Given the description of an element on the screen output the (x, y) to click on. 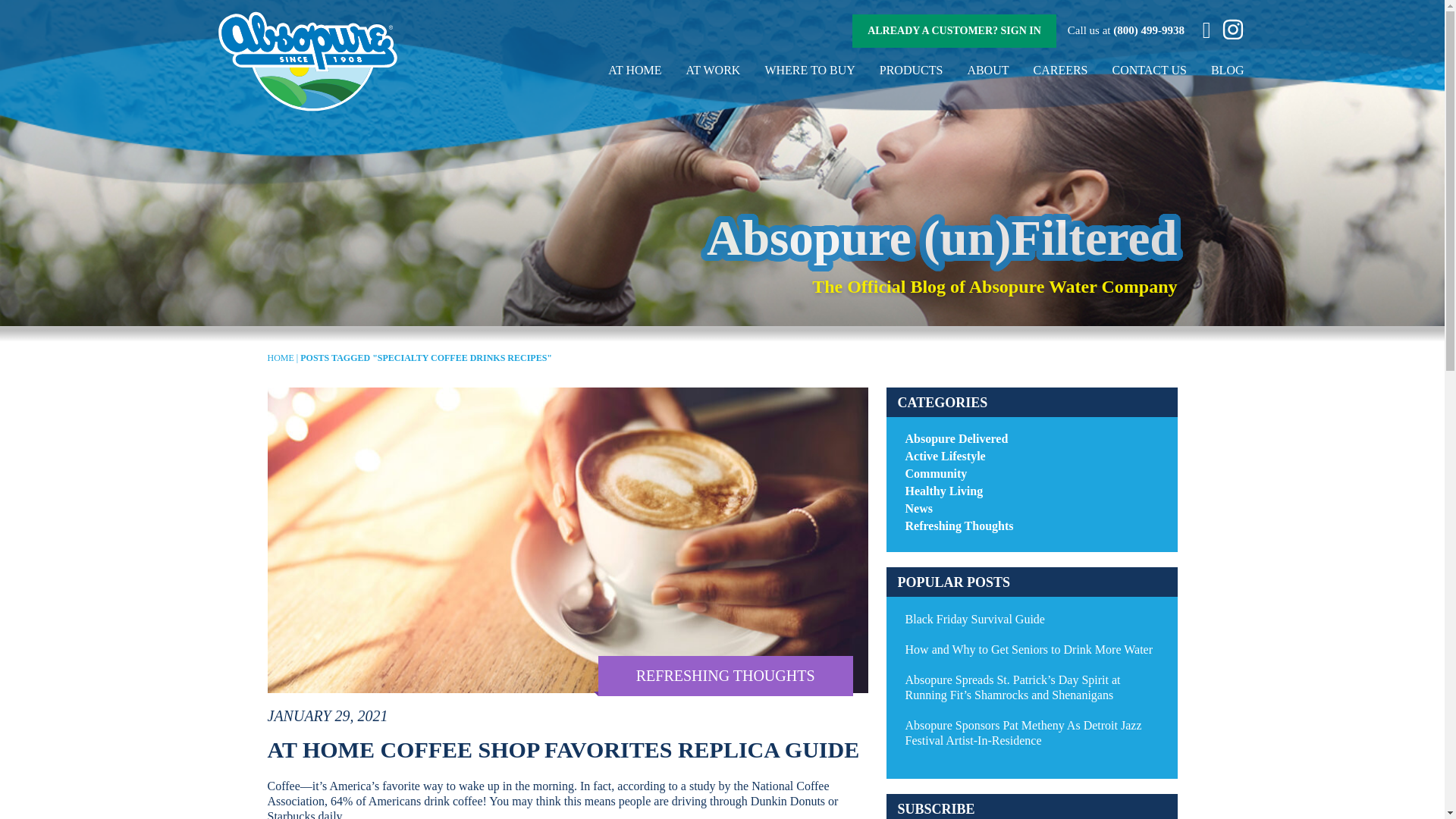
ABOUT (987, 70)
CONTACT US (1149, 70)
PRODUCTS (911, 70)
WHERE TO BUY (809, 70)
ALREADY A CUSTOMER? SIGN IN (954, 30)
BLOG (1227, 70)
HOME (280, 357)
AT HOME (634, 70)
CAREERS (1059, 70)
AT WORK (713, 70)
